Given the description of an element on the screen output the (x, y) to click on. 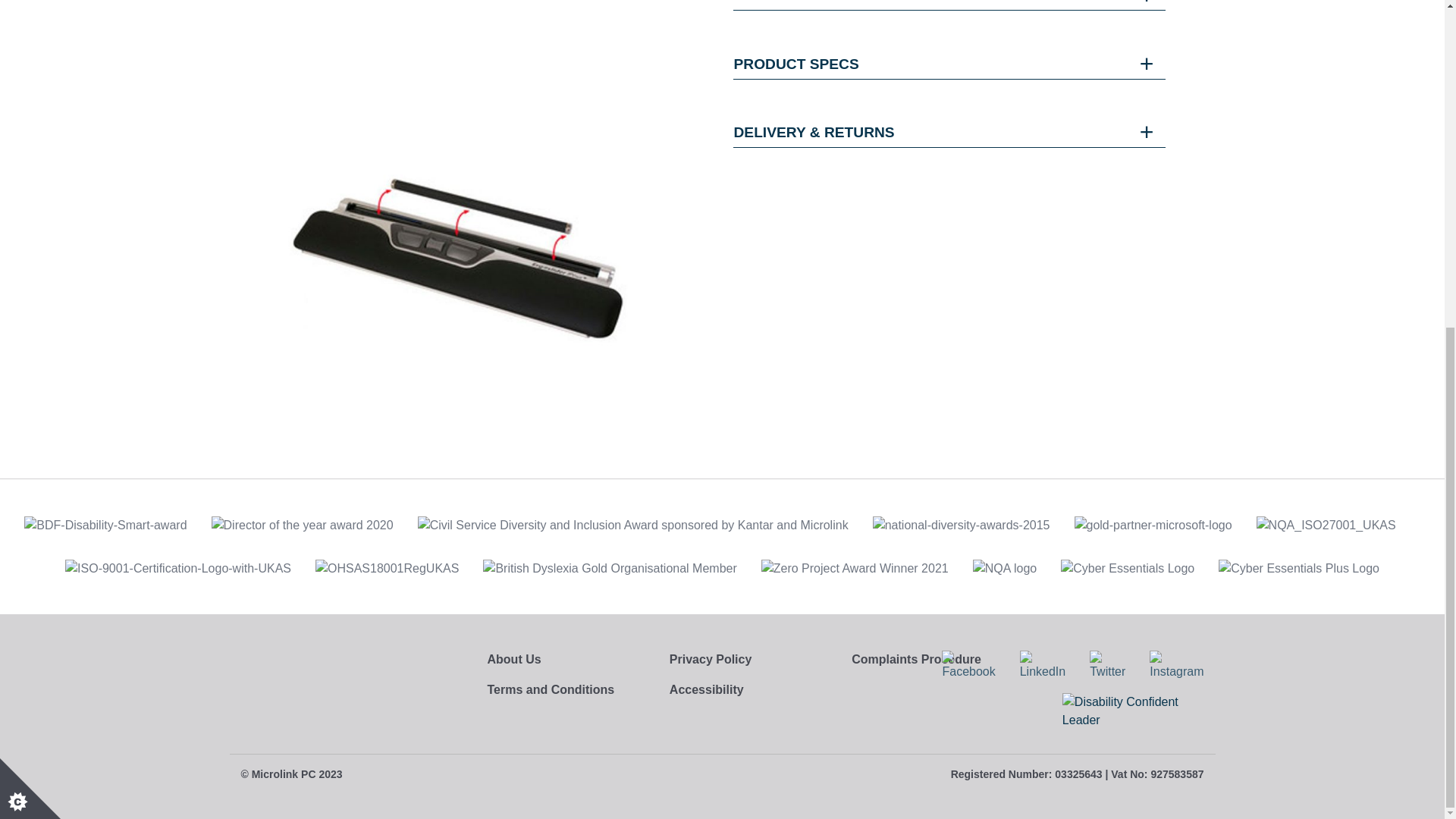
Cookie Control (30, 249)
Cookie Control (30, 249)
